Given the description of an element on the screen output the (x, y) to click on. 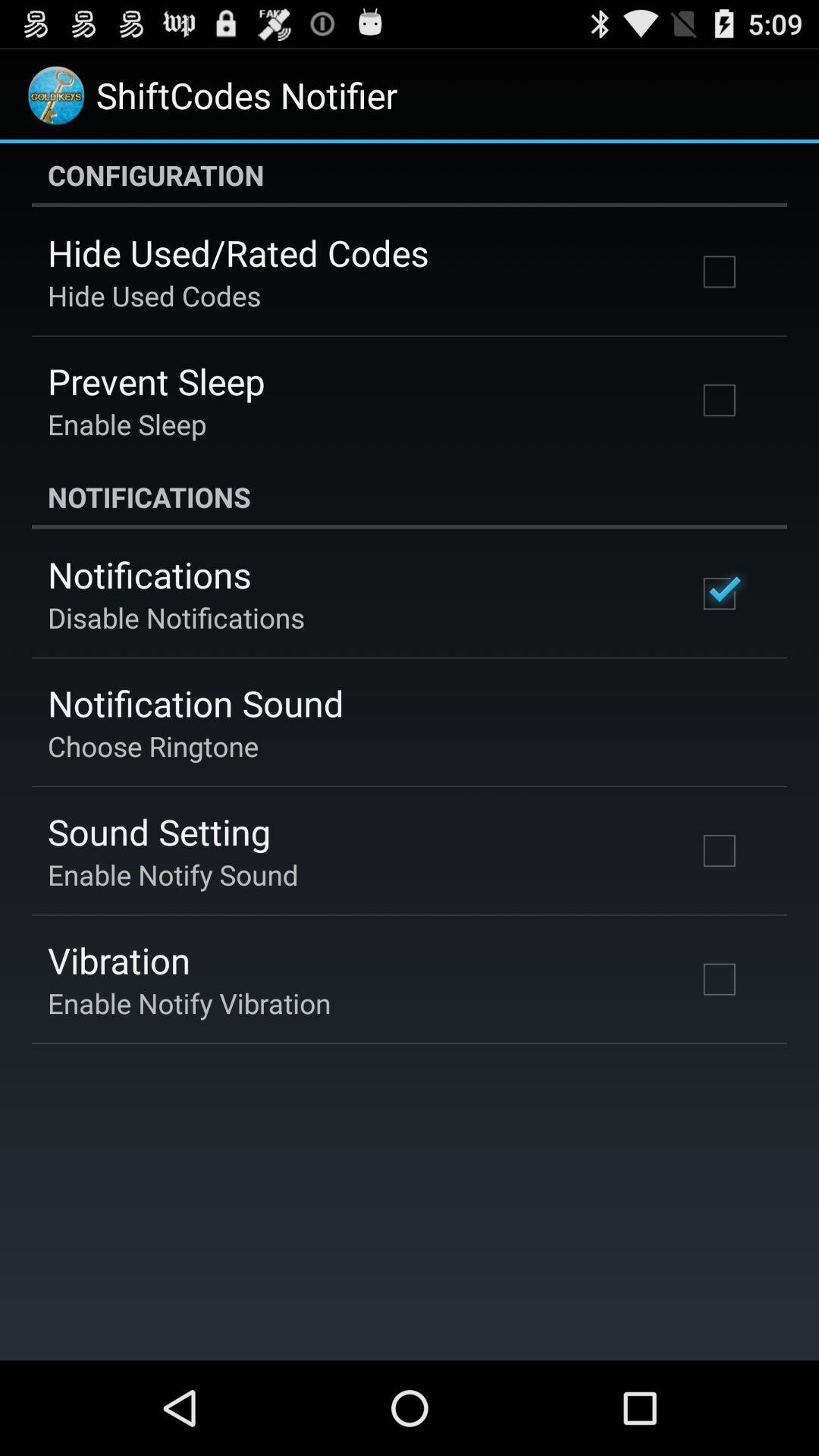
tap disable notifications icon (175, 617)
